Given the description of an element on the screen output the (x, y) to click on. 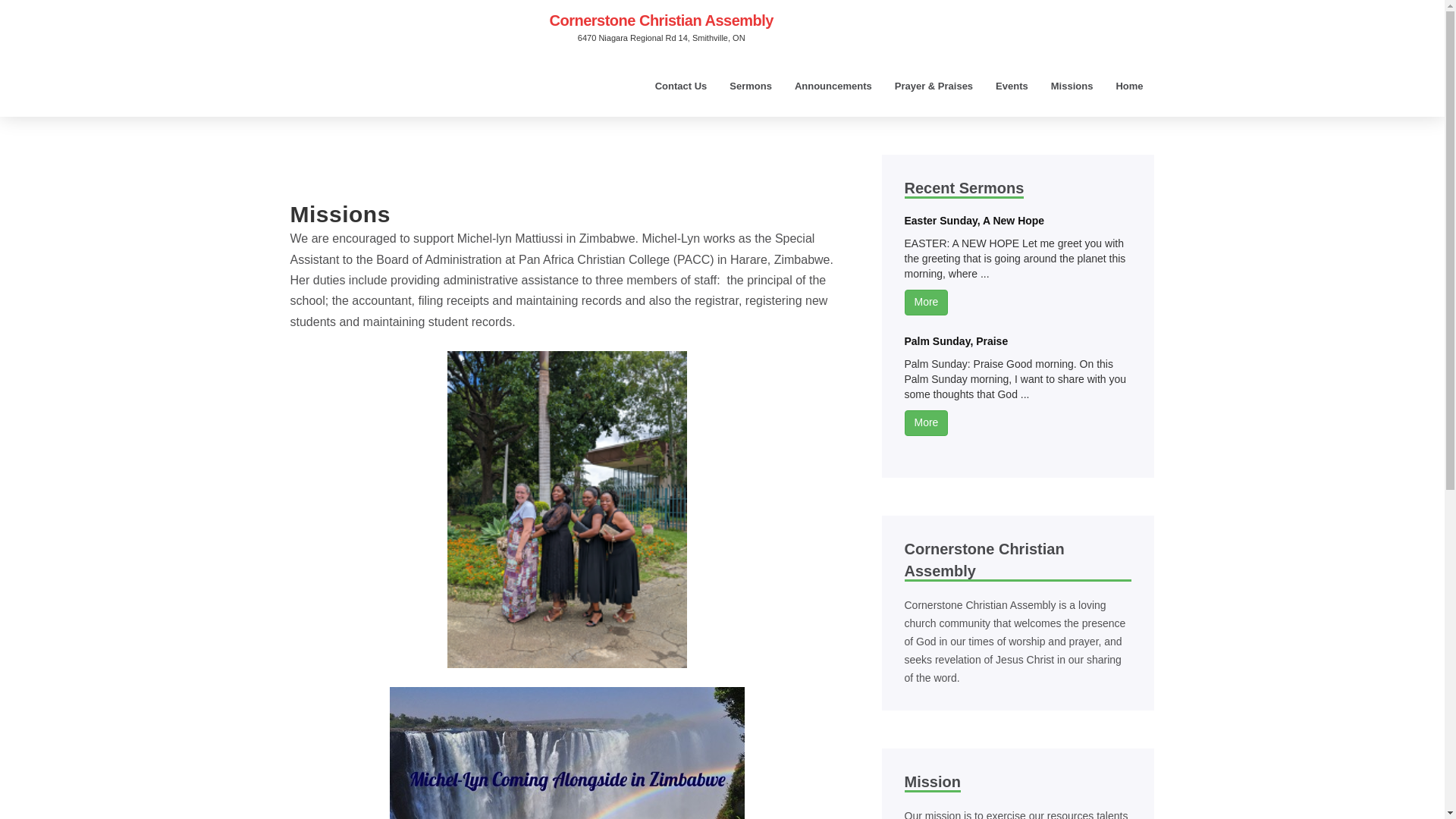
Events (1011, 86)
Contact Us (681, 86)
Announcements (833, 86)
Missions (1072, 86)
Events (1011, 86)
Missions (1072, 86)
Sermons (750, 86)
Announcements (833, 86)
More (925, 302)
Contact Us (681, 86)
